Given the description of an element on the screen output the (x, y) to click on. 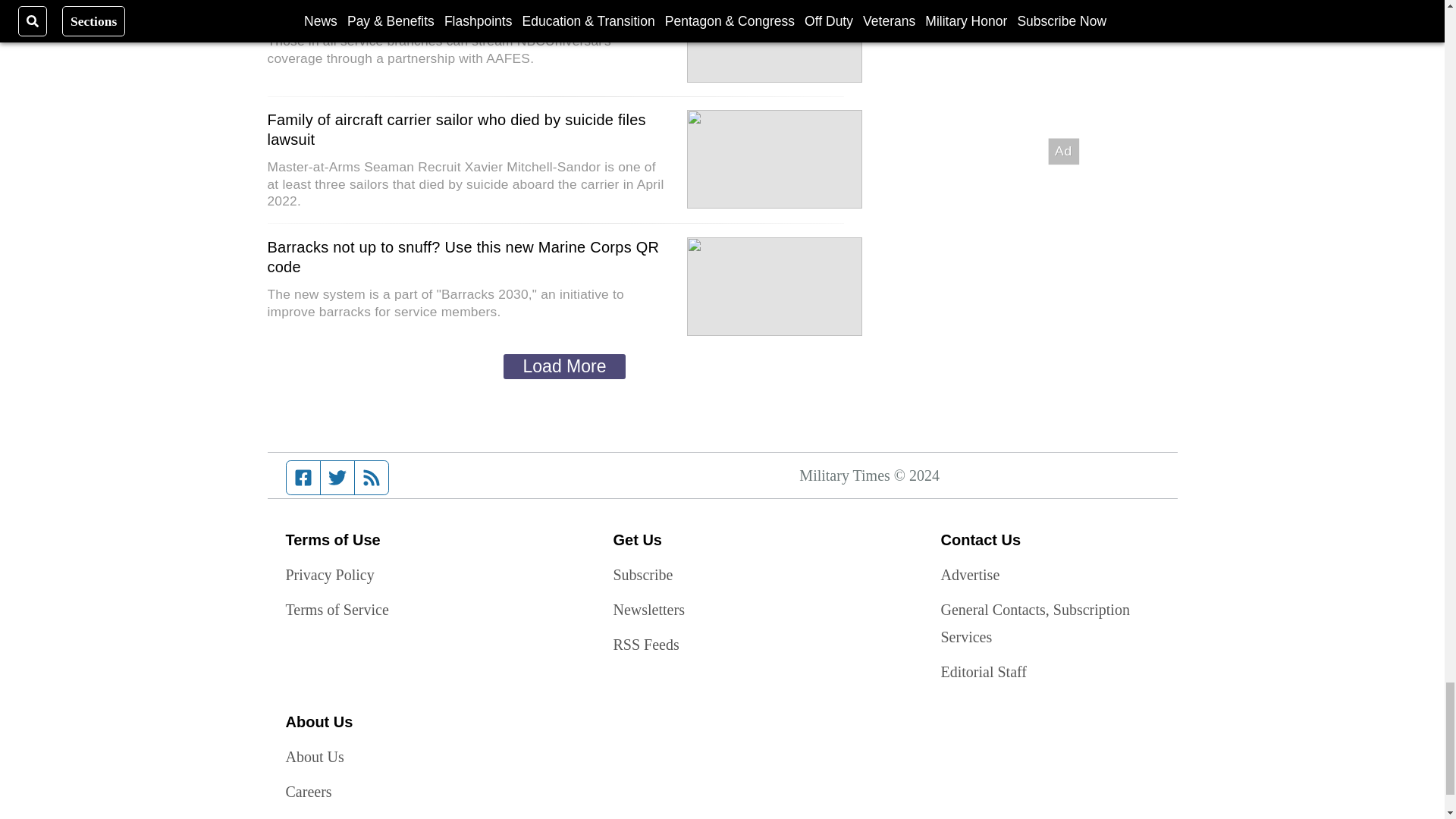
RSS feed (371, 477)
Facebook page (303, 477)
Twitter feed (336, 477)
